Given the description of an element on the screen output the (x, y) to click on. 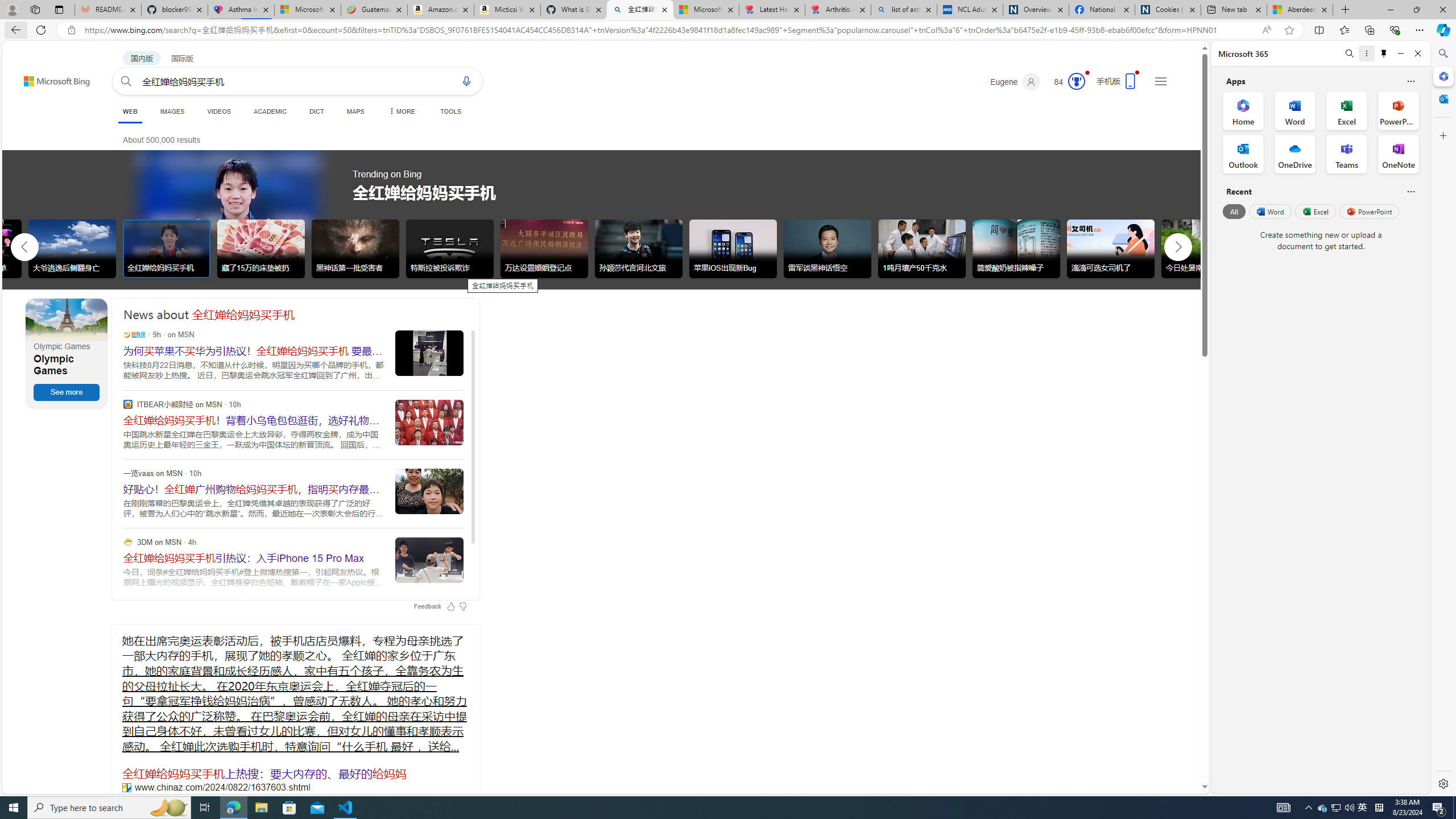
list of asthma inhalers uk - Search (904, 9)
MAPS (355, 111)
Side bar (1443, 418)
Back to Bing search (50, 78)
DICT (316, 111)
AutomationID: serp_medal_svg (1076, 81)
Settings and quick links (1160, 80)
VIDEOS (218, 111)
Aberdeen, Hong Kong SAR hourly forecast | Microsoft Weather (1300, 9)
